Given the description of an element on the screen output the (x, y) to click on. 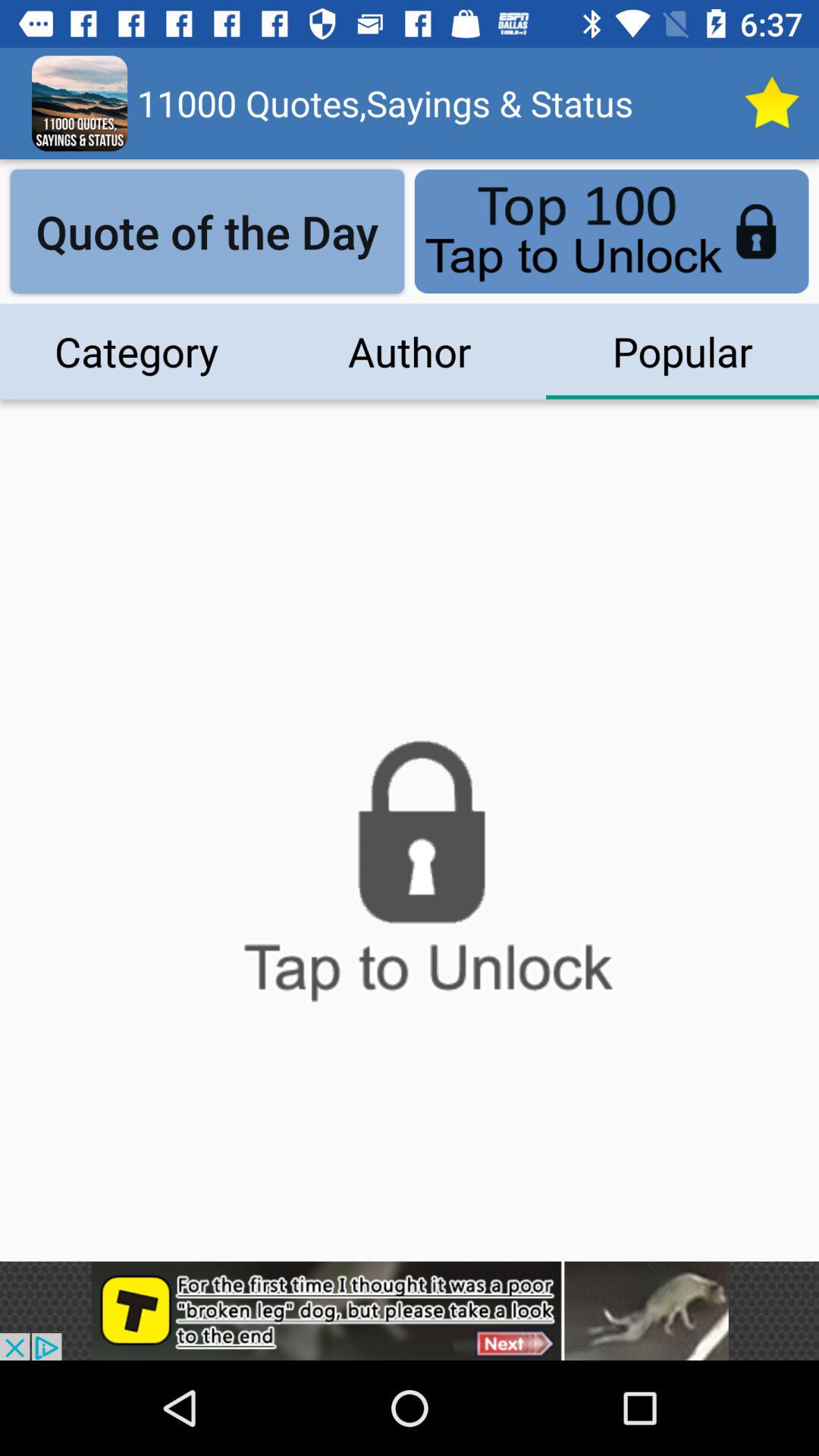
select the tap to unlock (409, 879)
